Given the description of an element on the screen output the (x, y) to click on. 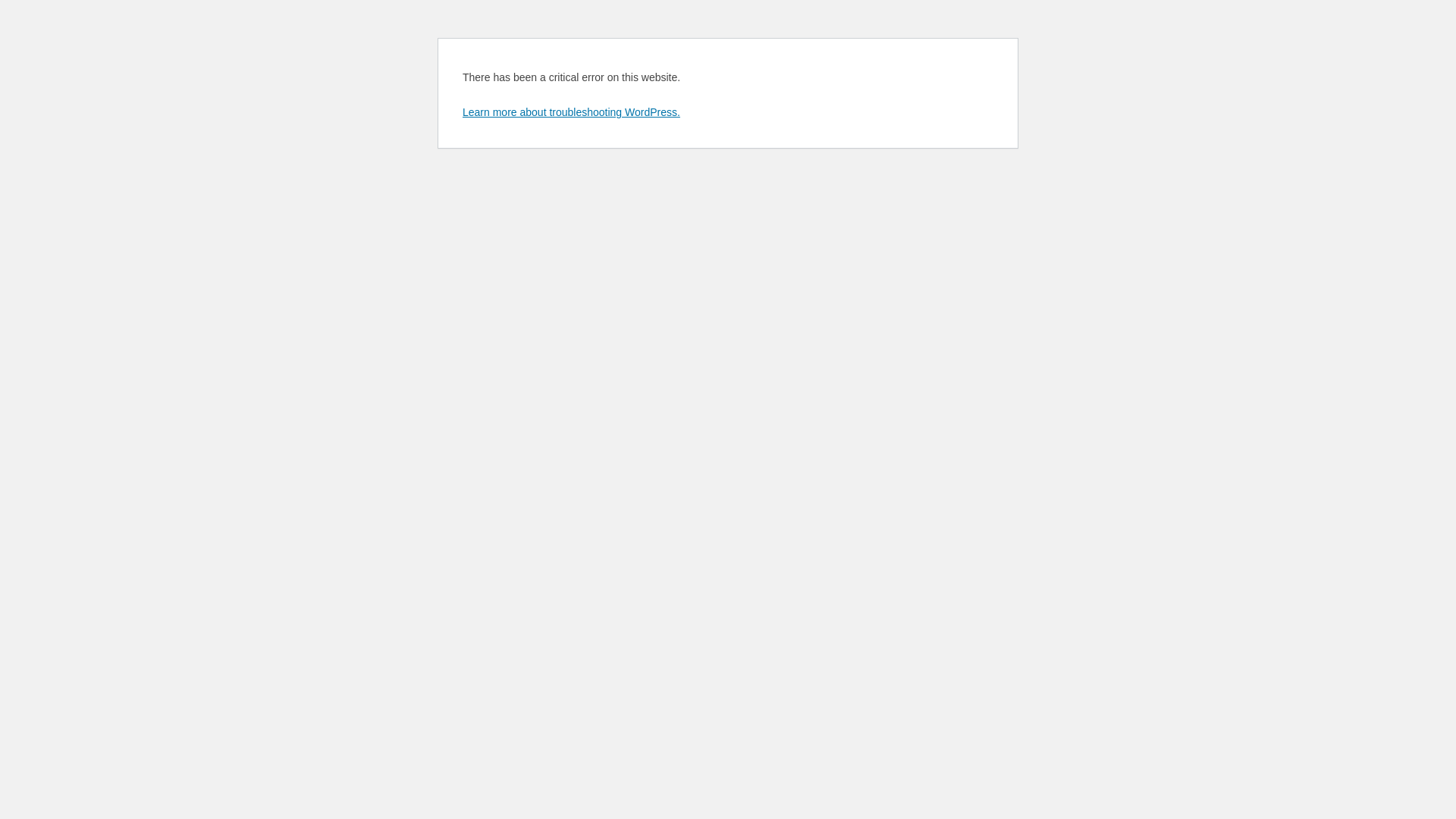
Learn more about troubleshooting WordPress. Element type: text (571, 112)
